Given the description of an element on the screen output the (x, y) to click on. 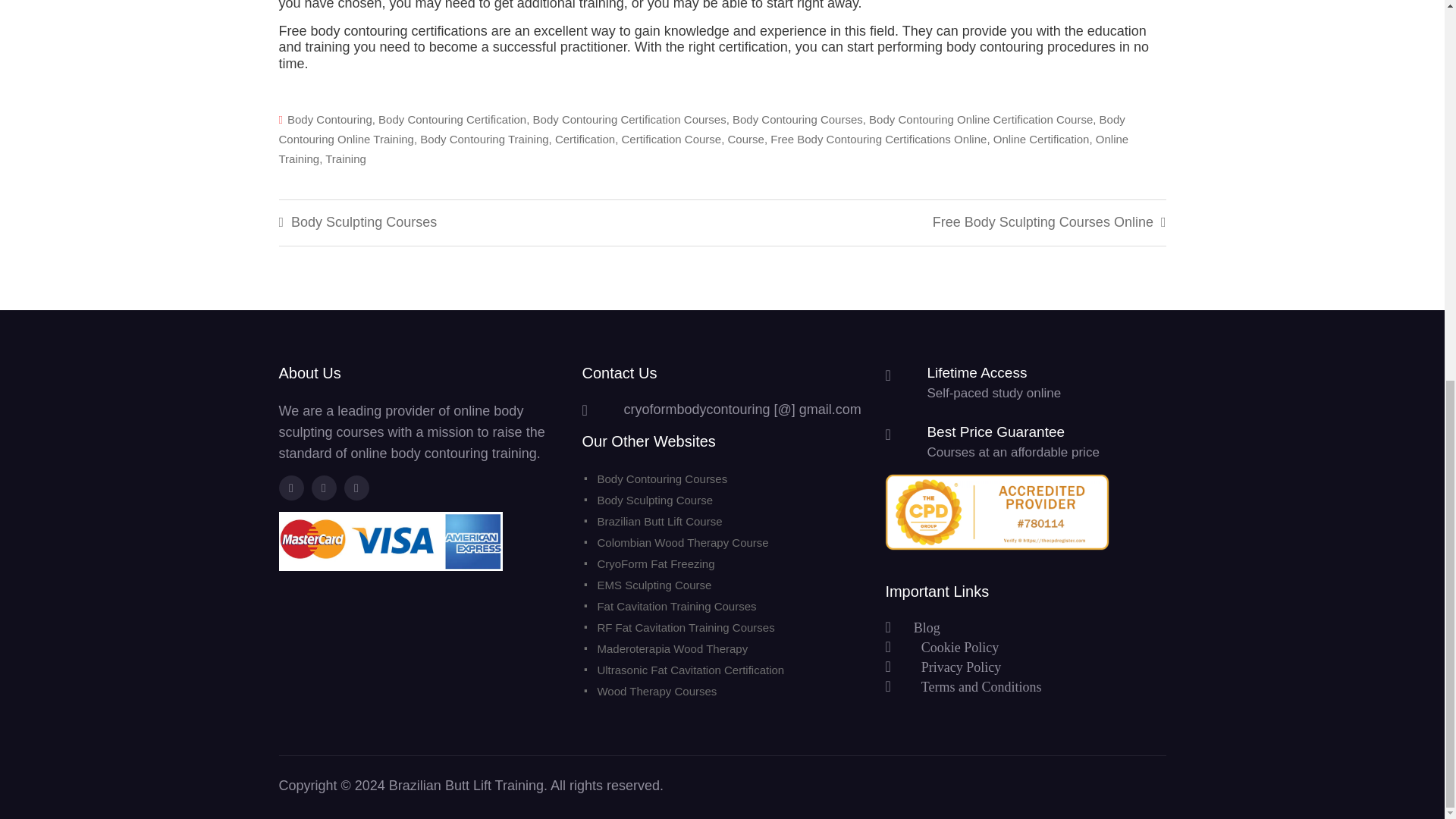
Body Contouring Online Training (702, 129)
Body Contouring Training (484, 138)
Body Contouring Online Certification Course (981, 119)
Certification (584, 138)
Body Contouring Certification Courses (629, 119)
Body Contouring Certification (451, 119)
Certification Course (670, 138)
Body Contouring (329, 119)
Body Contouring Courses (797, 119)
credit card we accept (391, 540)
Course (746, 138)
